Given the description of an element on the screen output the (x, y) to click on. 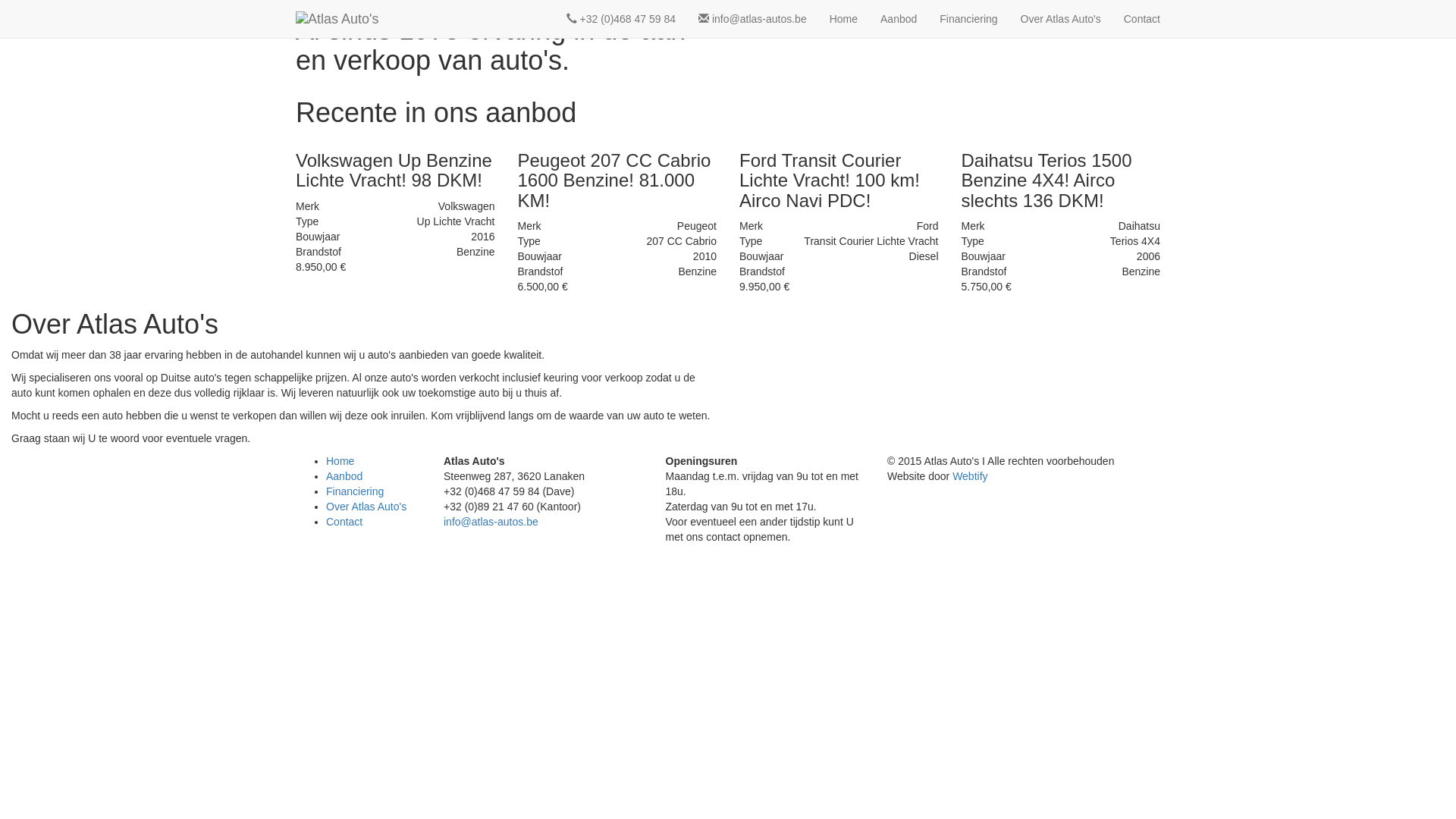
Home Element type: text (843, 18)
Over Atlas Auto's Element type: text (366, 506)
Contact Element type: text (1141, 18)
Aanbod Element type: text (898, 18)
Financiering Element type: text (968, 18)
+32 (0)468 47 59 84 Element type: text (621, 18)
info@atlas-autos.be Element type: text (752, 18)
Webtify Element type: text (969, 476)
Aanbod Element type: text (344, 476)
Contact Element type: text (344, 521)
Home Element type: text (340, 461)
Financiering Element type: text (354, 491)
Over Atlas Auto's Element type: text (1060, 18)
info@atlas-autos.be Element type: text (490, 521)
